Given the description of an element on the screen output the (x, y) to click on. 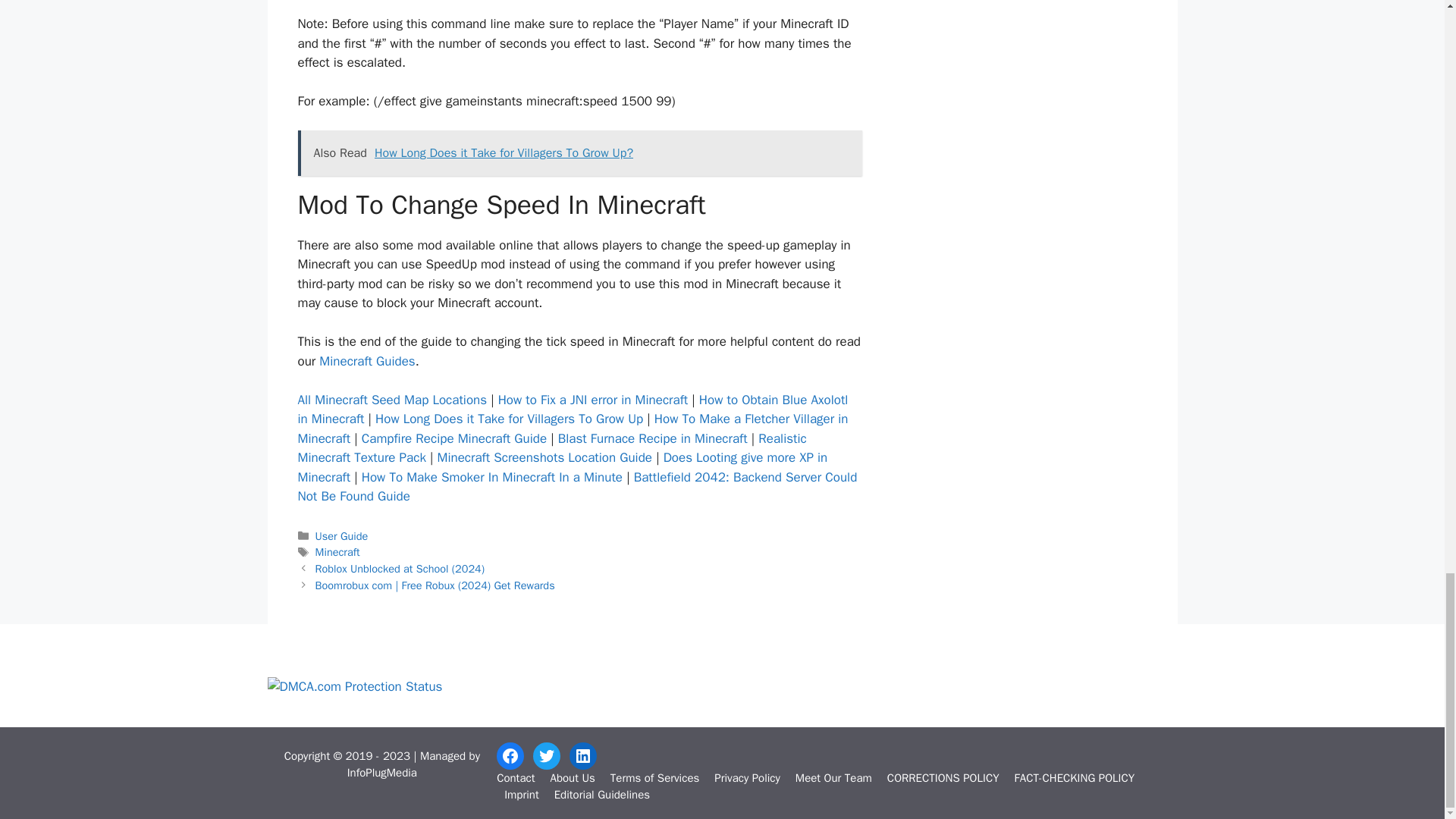
Also Read  How Long Does it Take for Villagers To Grow Up? (579, 153)
How To Make Smoker In Minecraft In a Minute (492, 477)
Minecraft Screenshots Location Guide (545, 457)
How to Obtain Blue Axolotl in Minecraft (572, 409)
Realistic Minecraft Texture Pack (551, 448)
Blast Furnace Recipe in Minecraft (652, 438)
How Long Does it Take for Villagers To Grow Up (509, 418)
Campfire Recipe Minecraft Guide (454, 438)
Minecraft Guides (366, 360)
DMCA.com Protection Status (354, 686)
User Guide (341, 535)
Battlefield 2042: Backend Server Could Not Be Found Guide (577, 487)
All Minecraft Seed Map Locations (391, 399)
Does Looting give more XP in Minecraft (562, 467)
How to Fix a JNI error in Minecraft (592, 399)
